Given the description of an element on the screen output the (x, y) to click on. 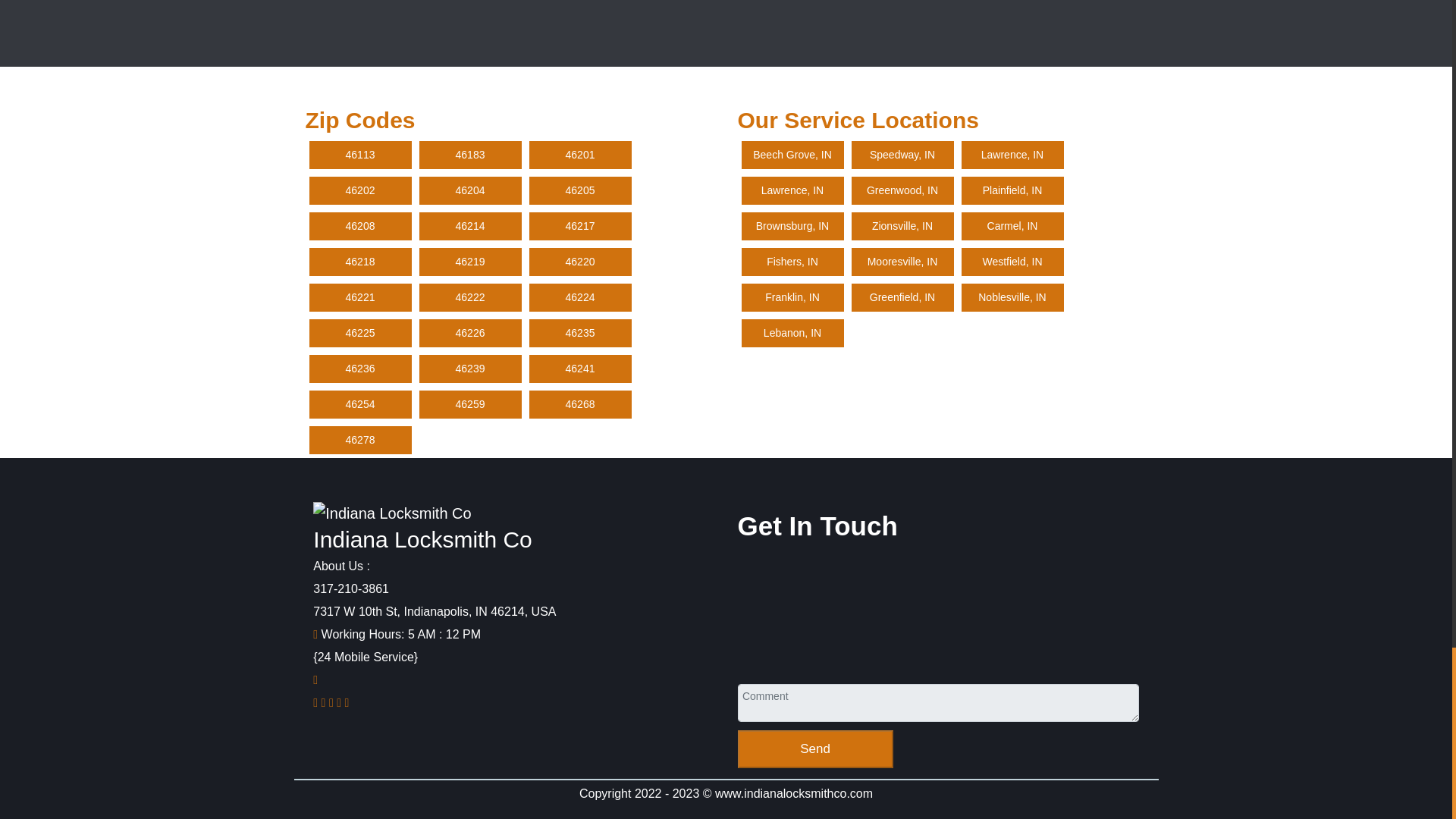
Send (814, 749)
www.indianalocksmithco.com (793, 793)
Professional Locksmith (391, 513)
